Given the description of an element on the screen output the (x, y) to click on. 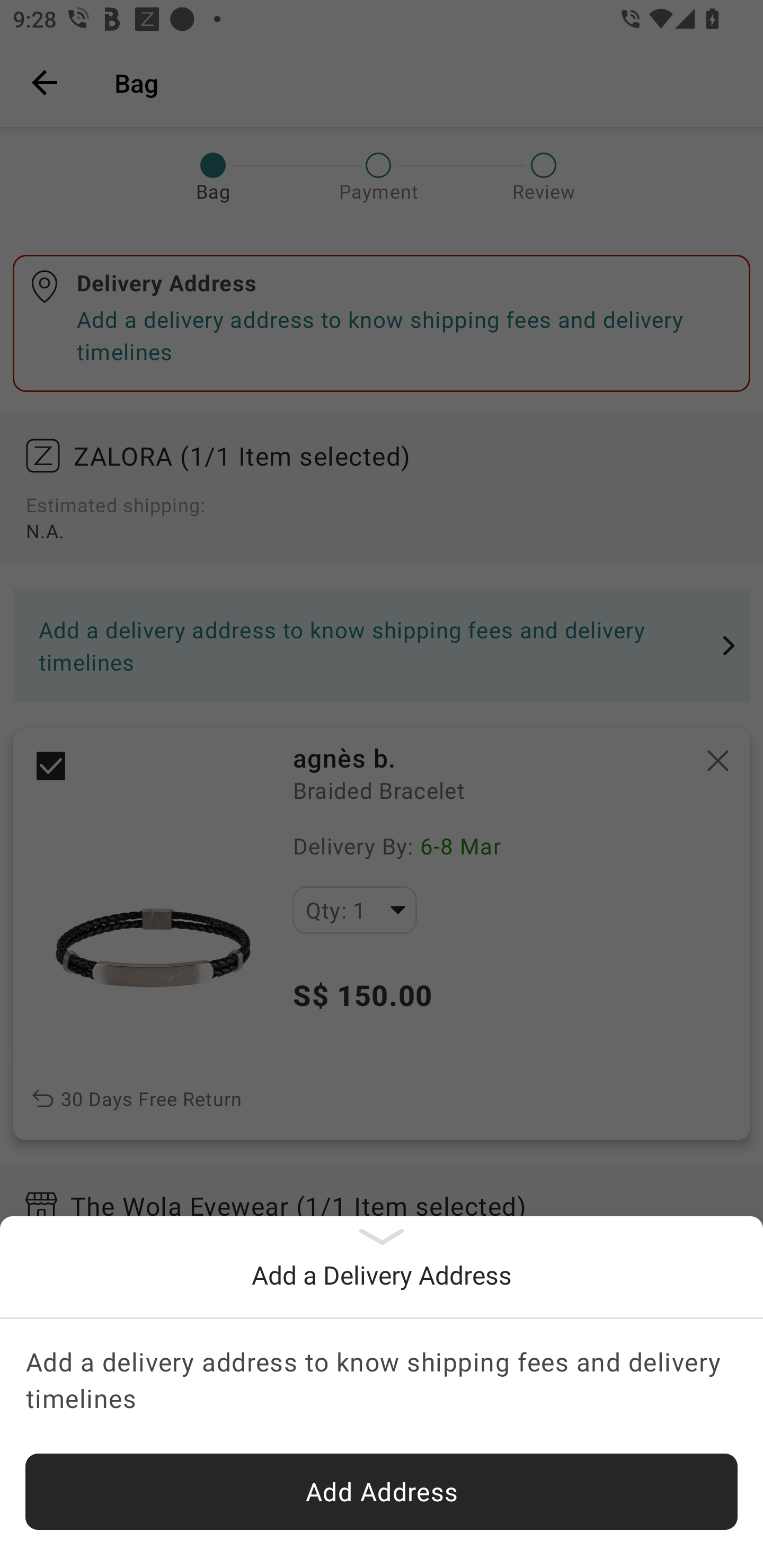
Add Address (381, 1491)
